Given the description of an element on the screen output the (x, y) to click on. 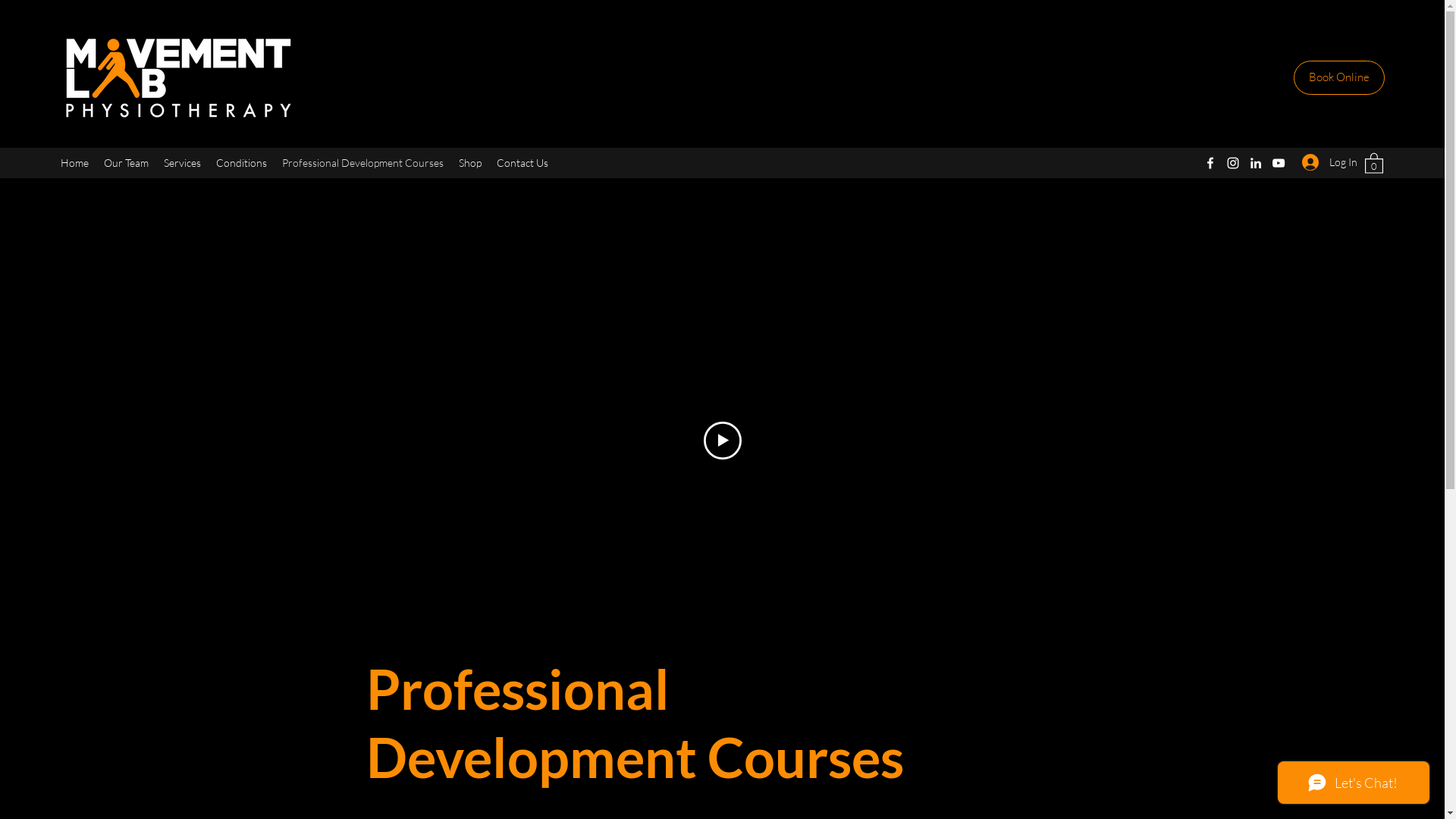
Contact Us Element type: text (522, 162)
0 Element type: text (1374, 162)
Services Element type: text (182, 162)
Book Online Element type: text (1338, 77)
Log In Element type: text (1325, 161)
Home Element type: text (74, 162)
Shop Element type: text (470, 162)
Professional Development Courses Element type: text (362, 162)
Conditions Element type: text (241, 162)
Our Team Element type: text (126, 162)
